Given the description of an element on the screen output the (x, y) to click on. 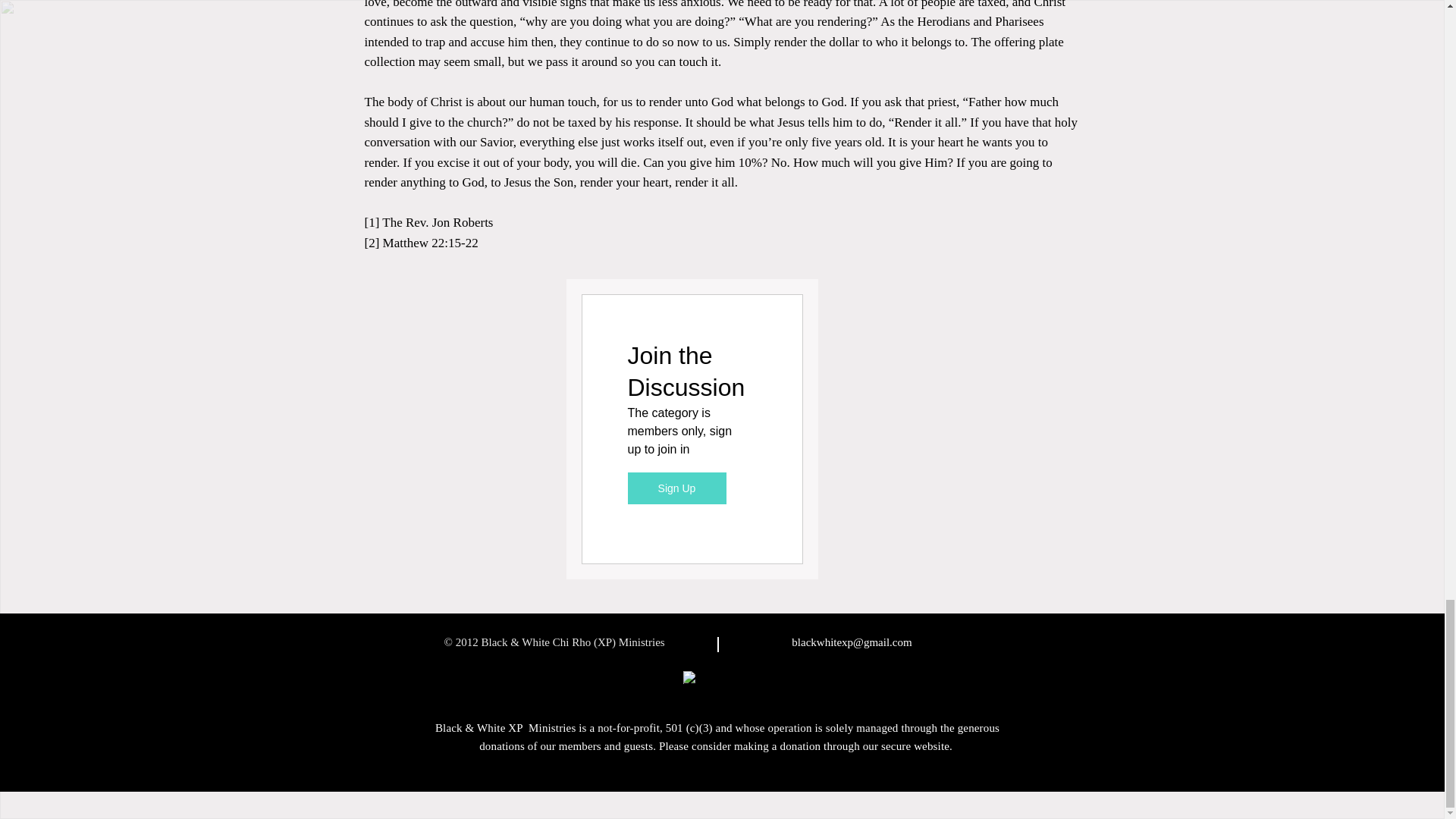
Sign Up (676, 488)
